Given the description of an element on the screen output the (x, y) to click on. 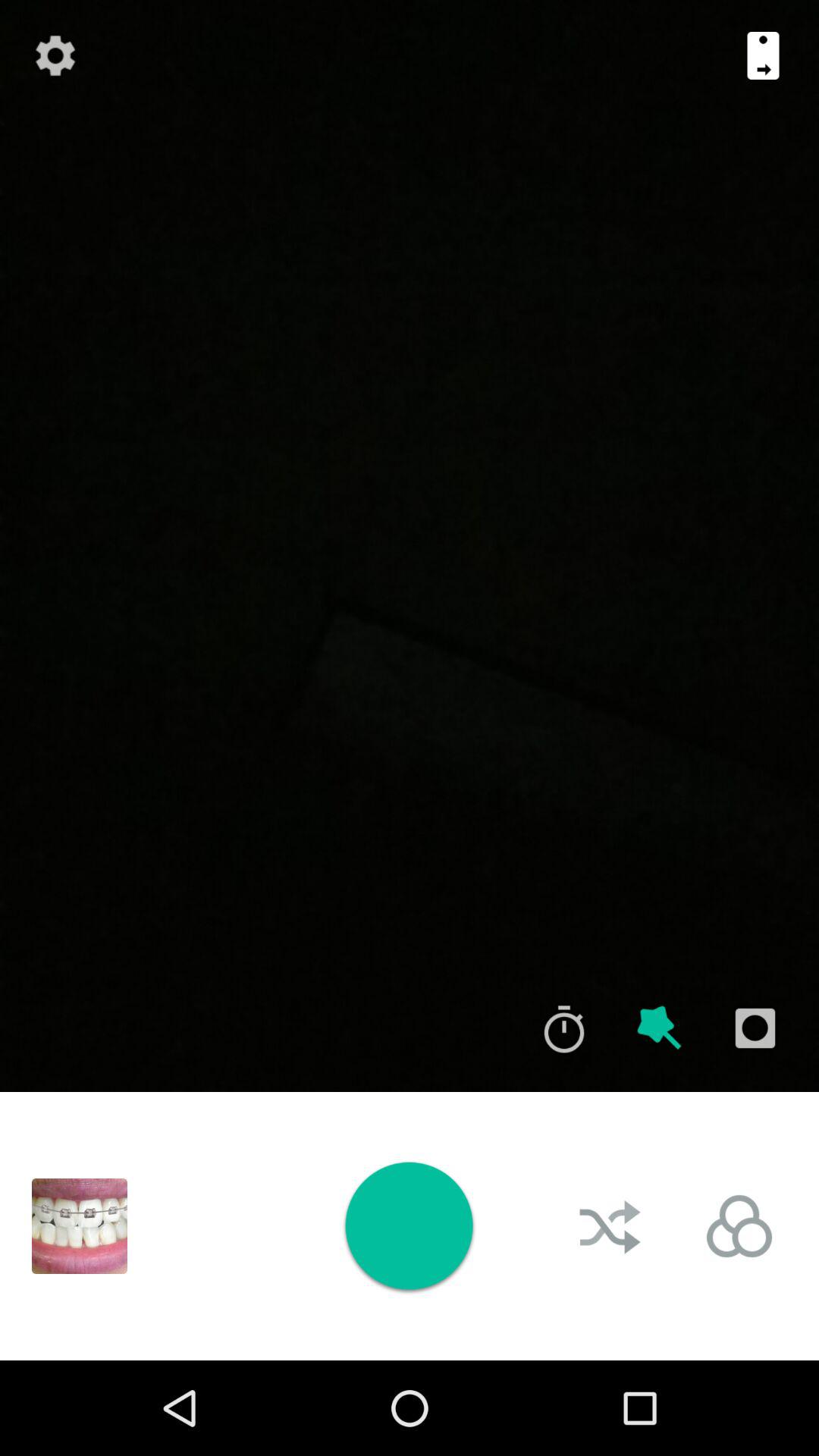
settings (55, 55)
